Given the description of an element on the screen output the (x, y) to click on. 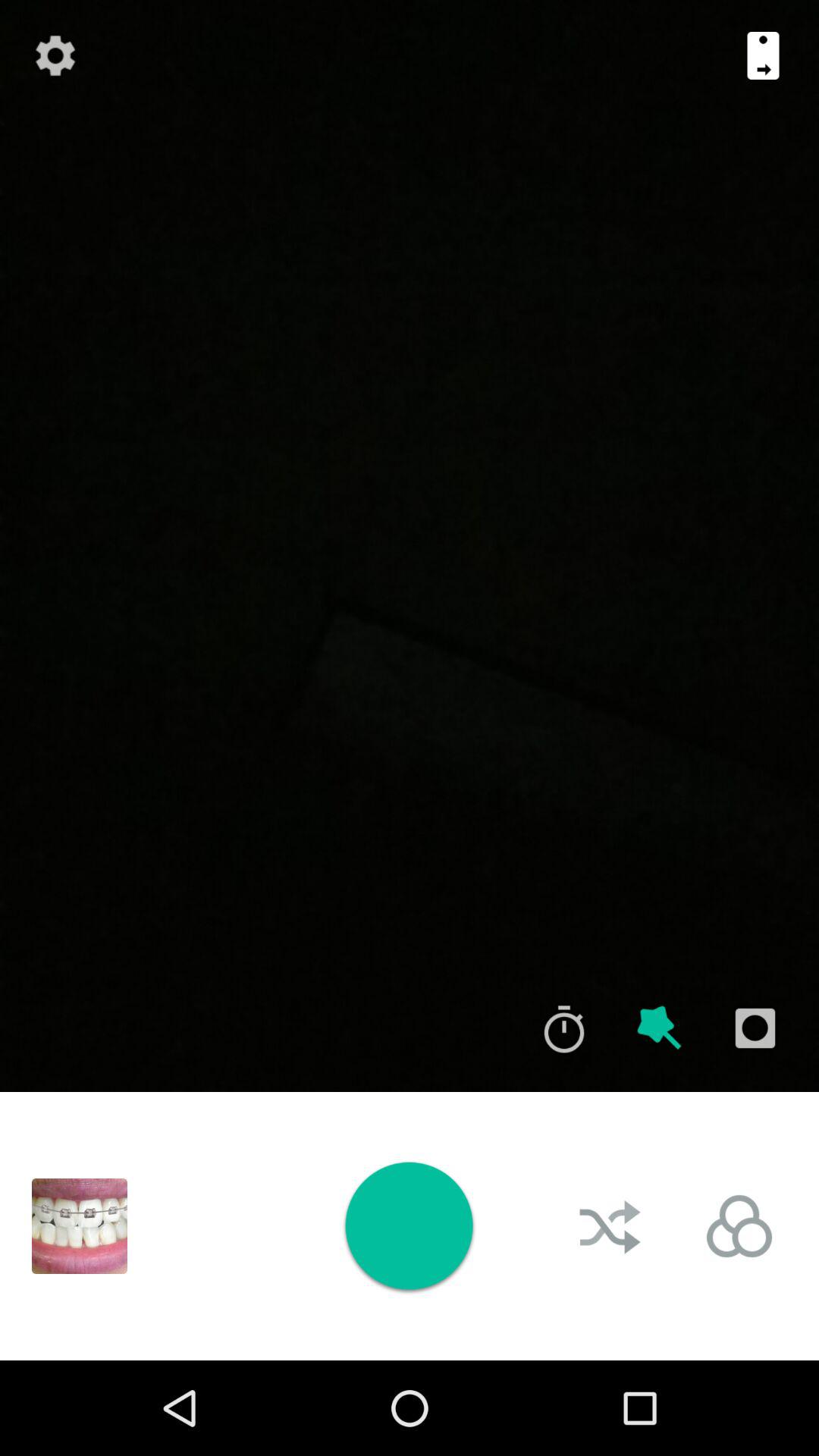
settings (55, 55)
